Given the description of an element on the screen output the (x, y) to click on. 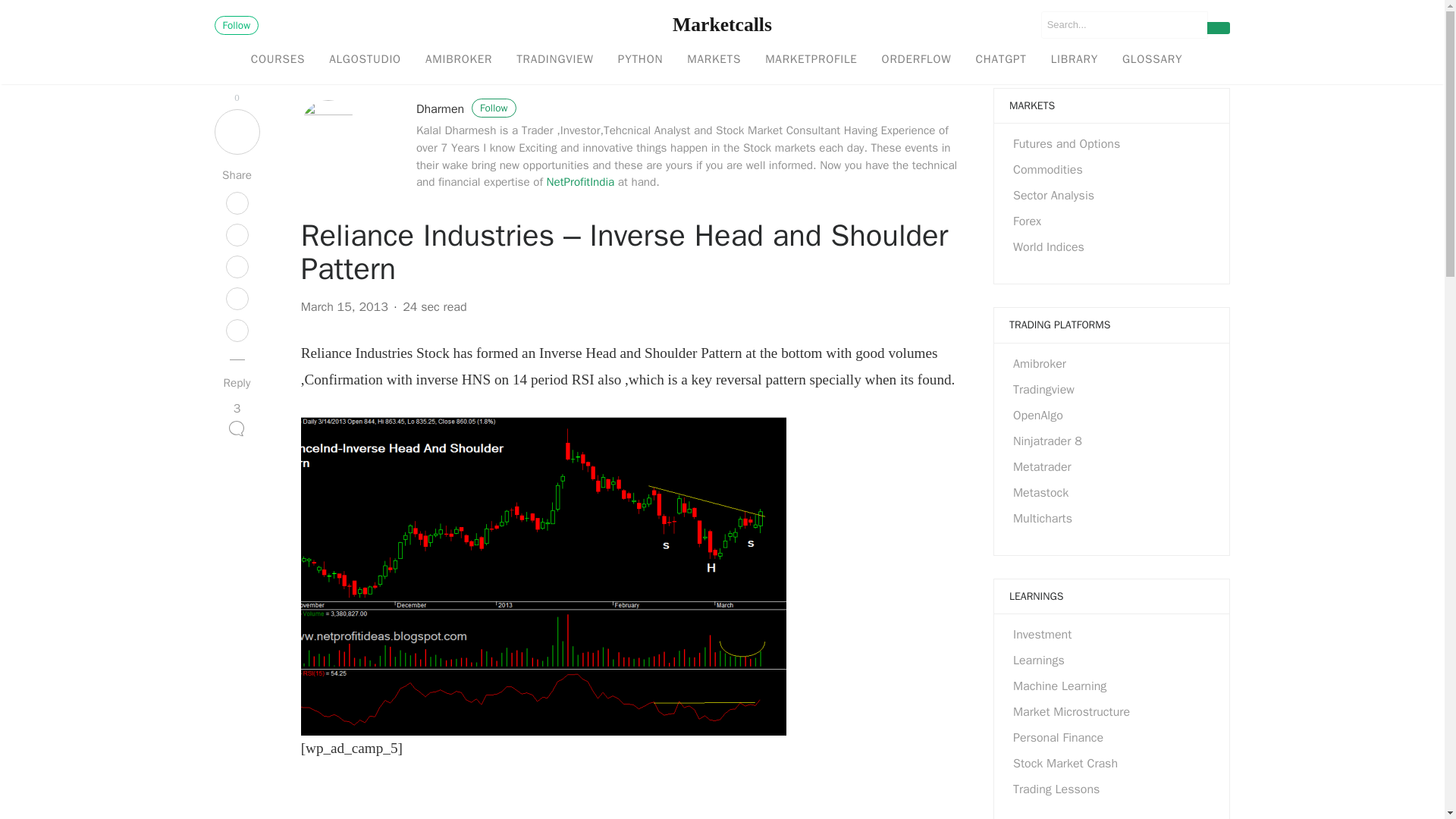
TRADINGVIEW (554, 59)
Orderflow and Trading Tutorials (916, 59)
Follow (236, 25)
Forex (1027, 221)
Dharmen Follow (466, 109)
AMIBROKER (458, 59)
MARKETS (713, 59)
CHATGPT (1000, 59)
ORDERFLOW (916, 59)
Futures and Options (1066, 143)
